Given the description of an element on the screen output the (x, y) to click on. 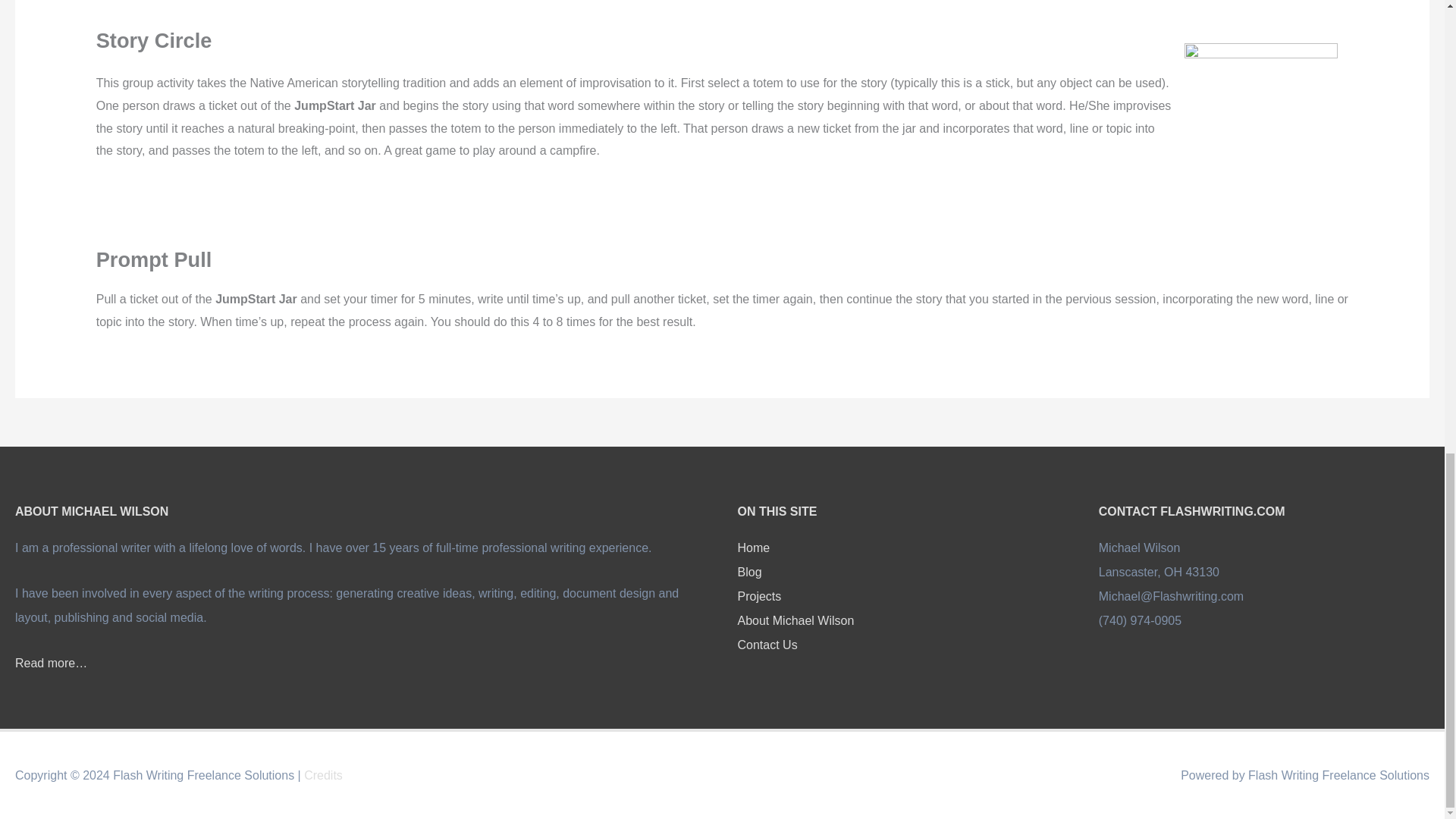
Contact Us (766, 644)
About Michael Wilson (794, 620)
Blog (748, 571)
Home (753, 547)
Projects (758, 595)
Credits (323, 775)
